Given the description of an element on the screen output the (x, y) to click on. 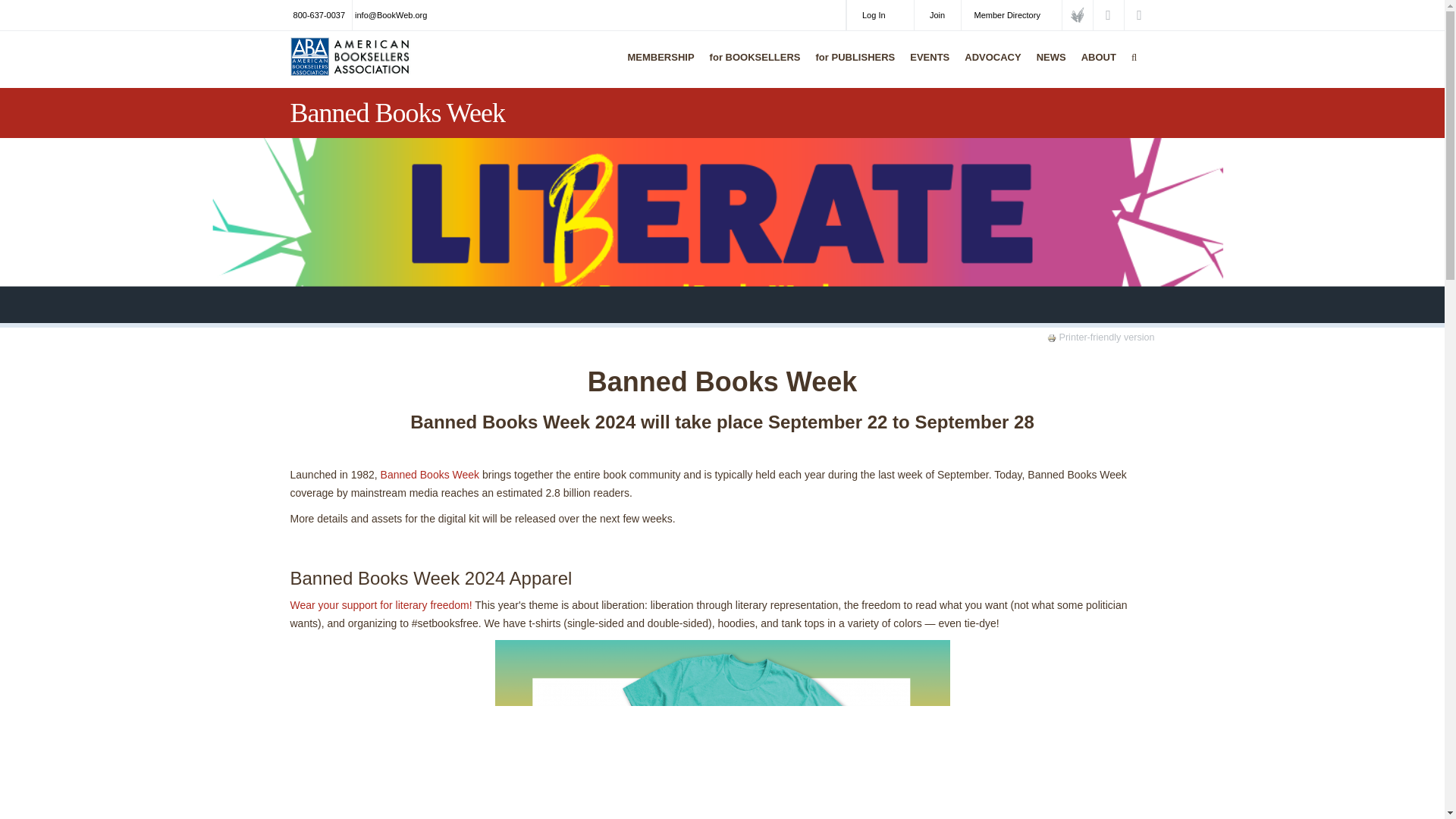
Member Directory (1010, 15)
Display a printer-friendly version of this page. (1100, 337)
Printer-friendly version (1052, 338)
Join (937, 15)
Log In (880, 15)
for BOOKSELLERS (751, 66)
MEMBERSHIP (656, 66)
